Given the description of an element on the screen output the (x, y) to click on. 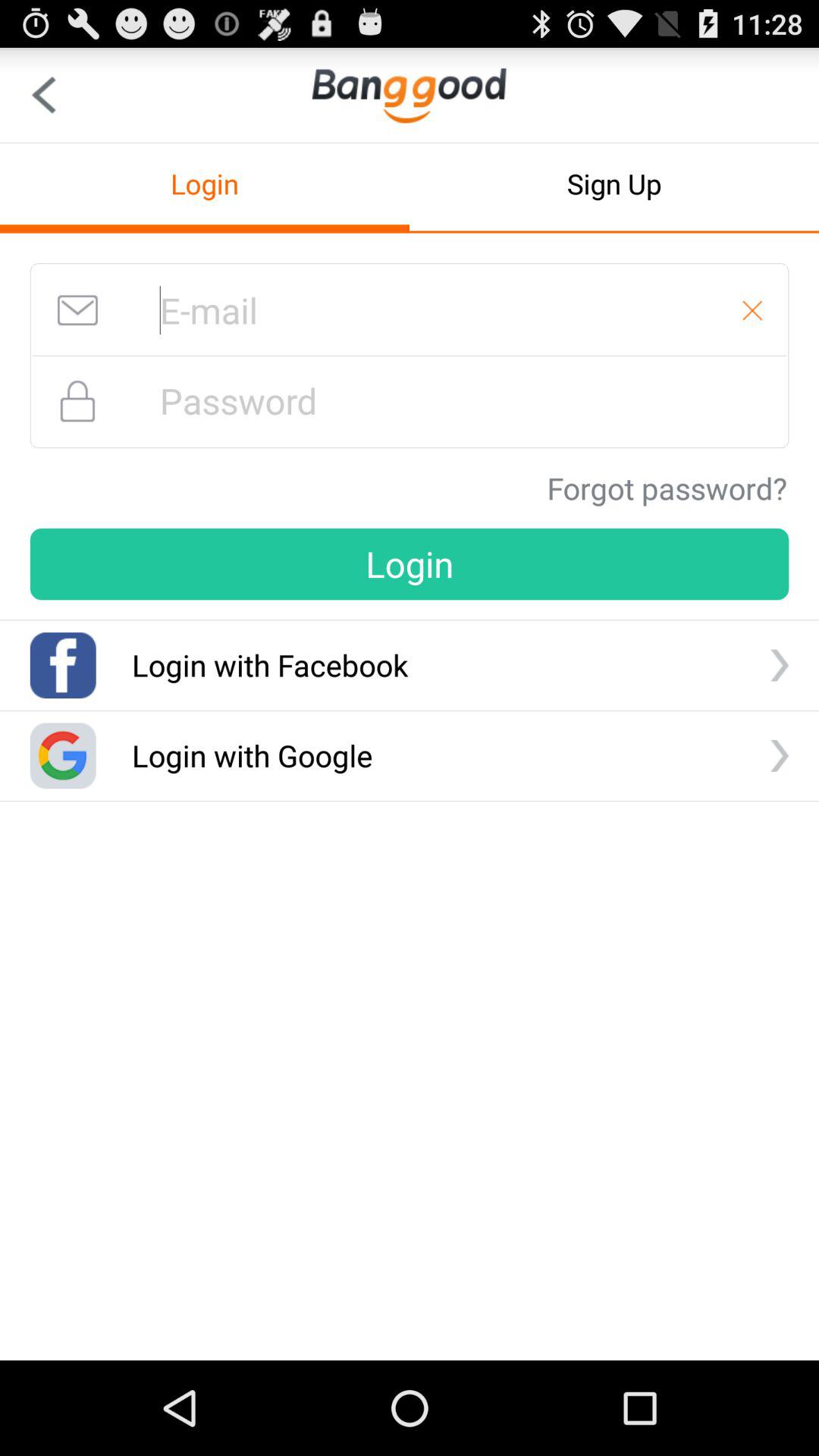
press sign up button (614, 183)
